Given the description of an element on the screen output the (x, y) to click on. 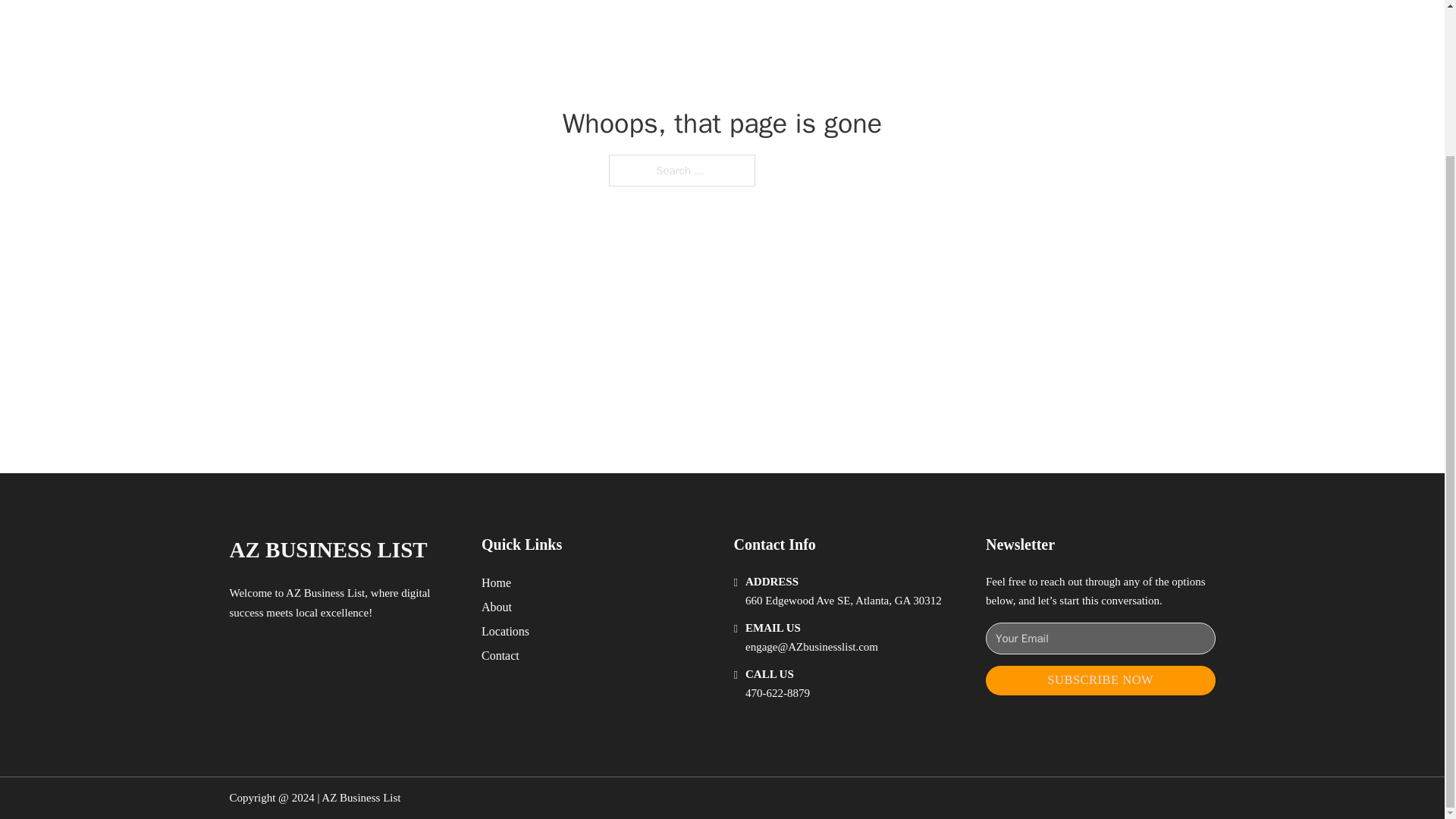
470-622-8879 (777, 693)
SUBSCRIBE NOW (1100, 680)
Home (496, 582)
About (496, 607)
Contact (500, 655)
Locations (505, 630)
AZ BUSINESS LIST (327, 549)
